Given the description of an element on the screen output the (x, y) to click on. 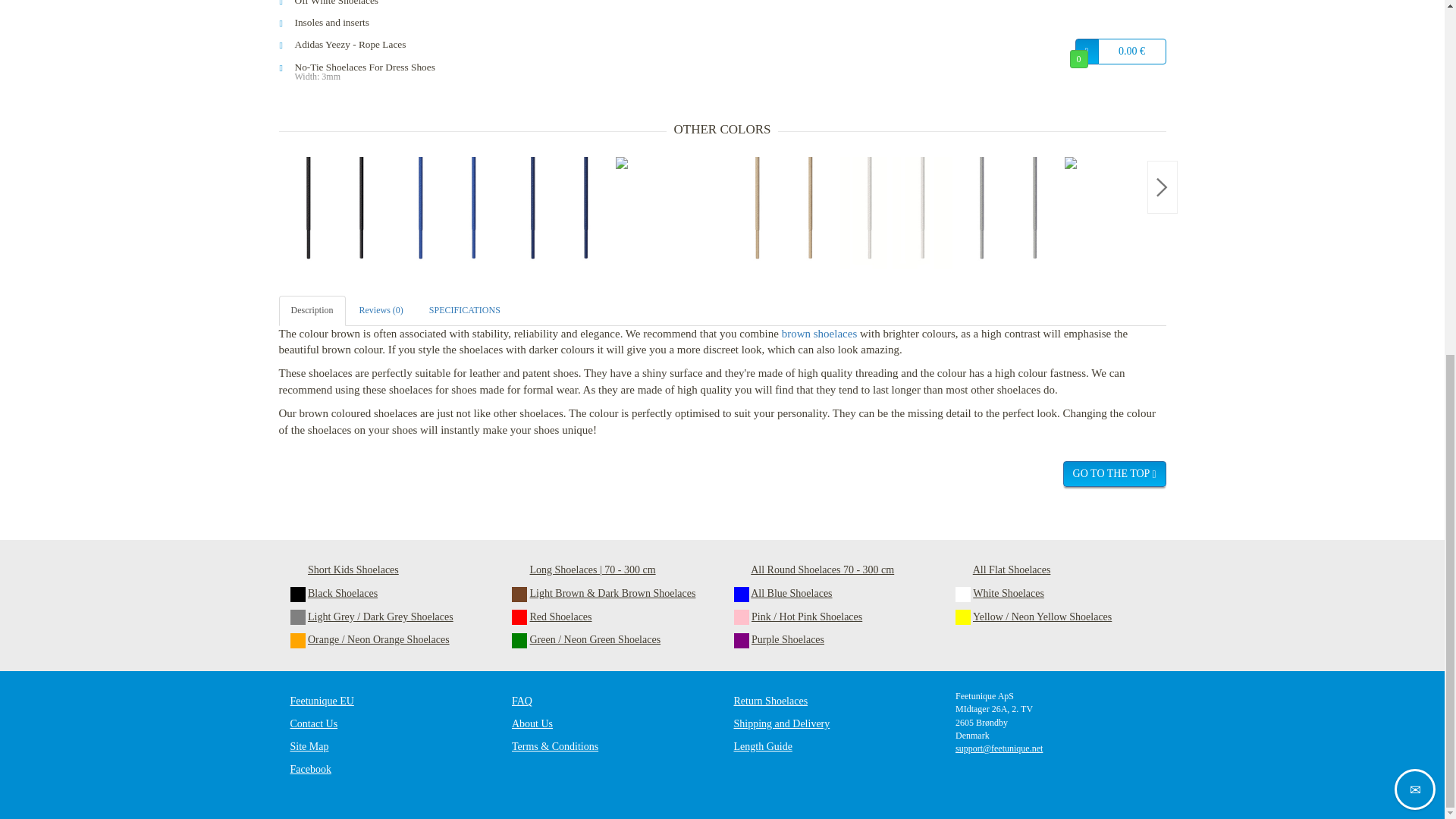
round beige dress shoelaces (784, 213)
round navy blue dress shoelaces (559, 213)
Adidas Yeezy - Rope Laces (387, 44)
Off White Shoelaces (387, 5)
round red dress shoelaces (671, 213)
round black dress shoelaces (335, 213)
Insoles and inserts (387, 22)
round dress blue shoelaces (447, 213)
